Given the description of an element on the screen output the (x, y) to click on. 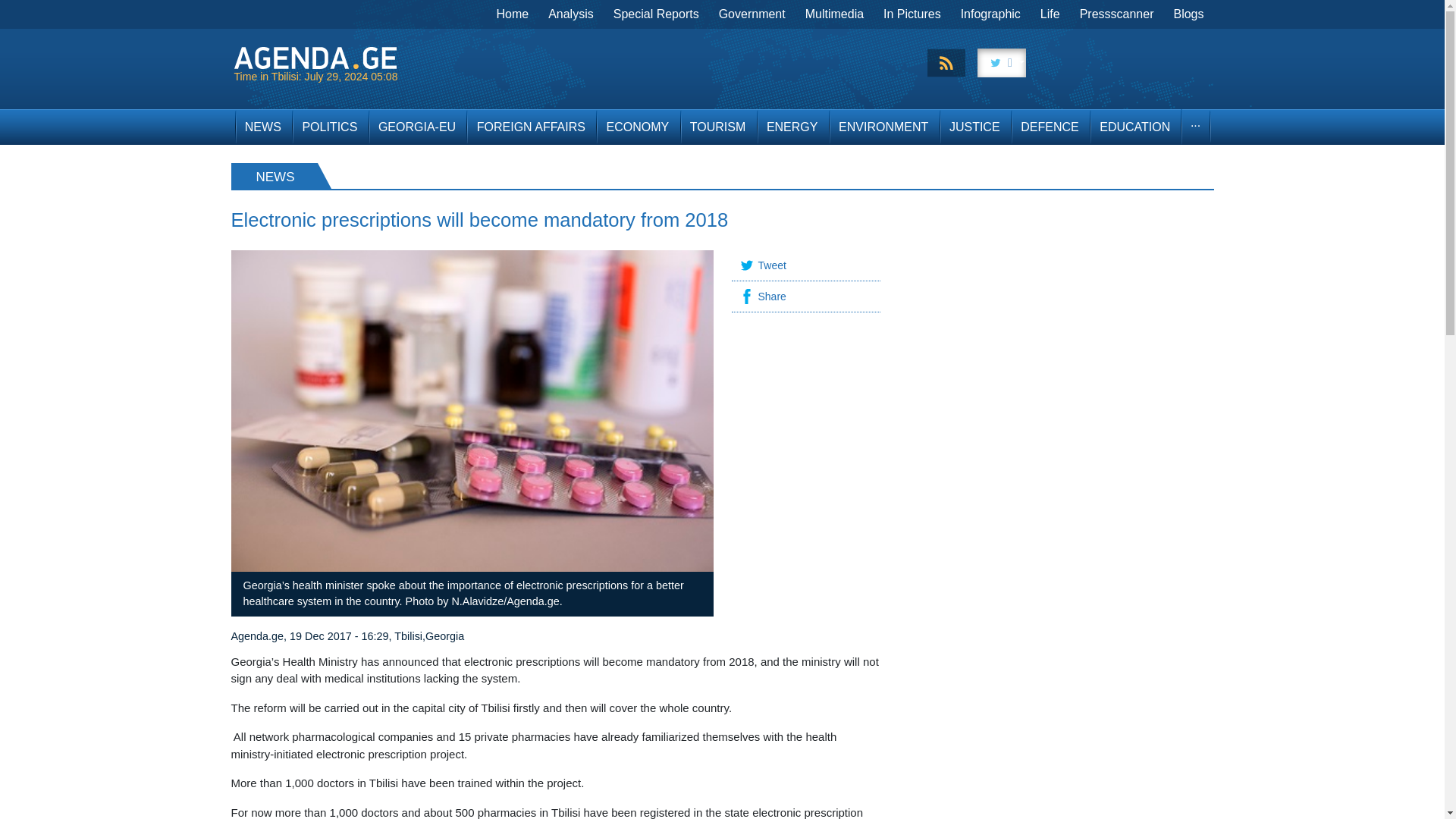
Special Reports (656, 14)
Life (1050, 14)
Analysis (571, 14)
Government (751, 14)
In Pictures (911, 14)
Infographic (990, 14)
NEWS (262, 126)
Home (512, 14)
Multimedia (833, 14)
Pressscanner (1116, 14)
Blogs (1187, 14)
